Given the description of an element on the screen output the (x, y) to click on. 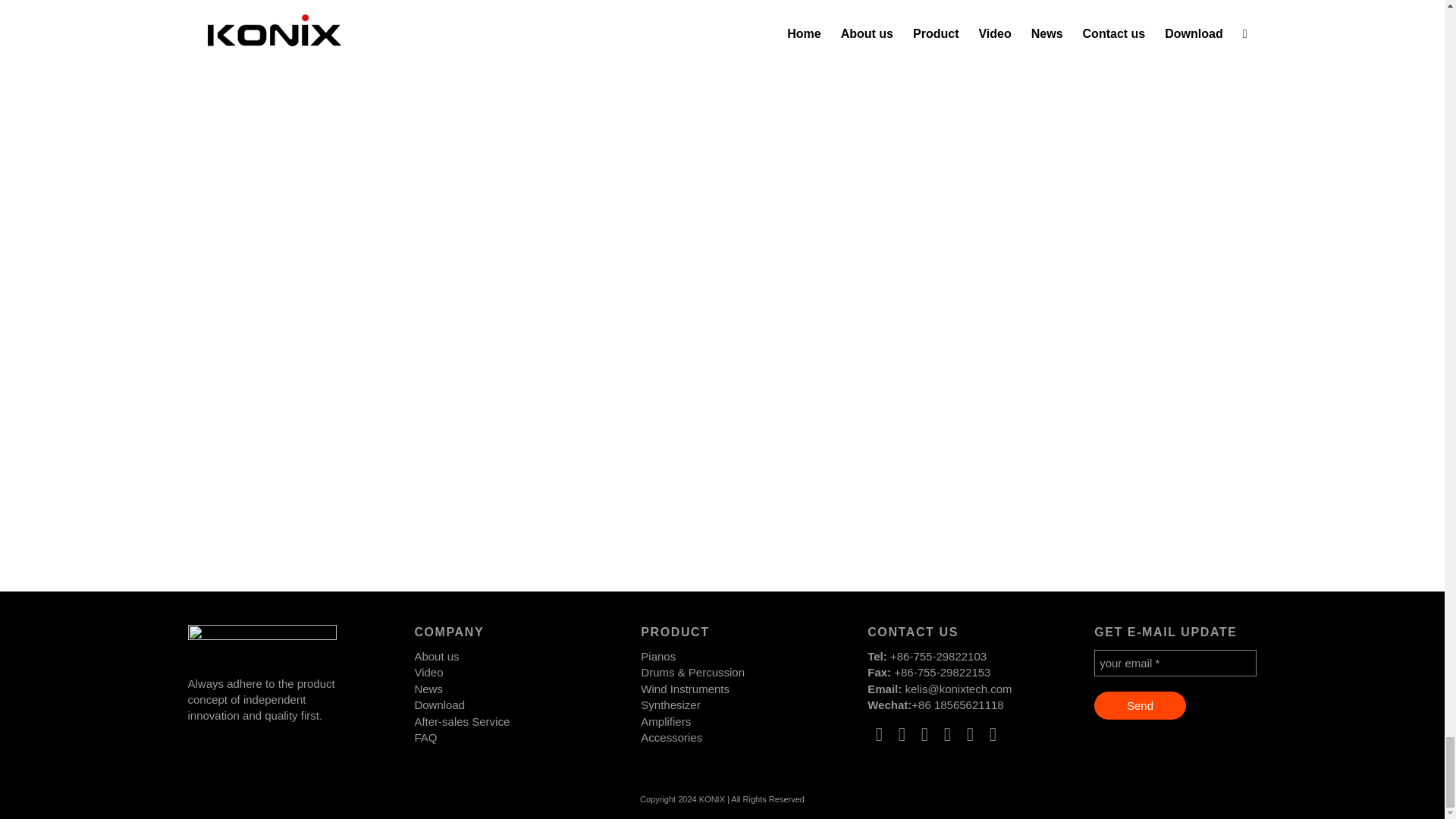
Send (1140, 705)
